Given the description of an element on the screen output the (x, y) to click on. 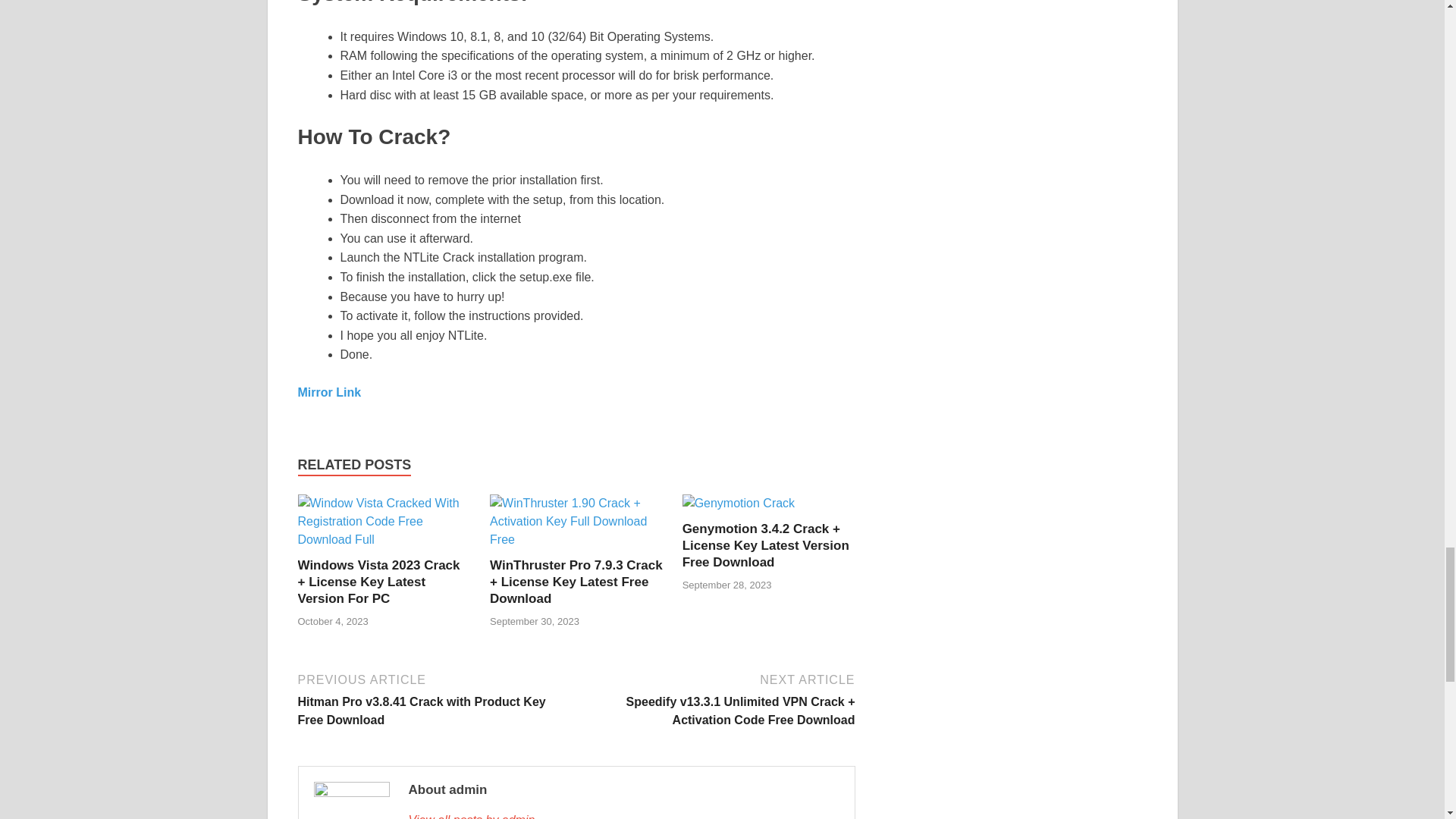
Mirror Link (329, 391)
admin (622, 815)
